Given the description of an element on the screen output the (x, y) to click on. 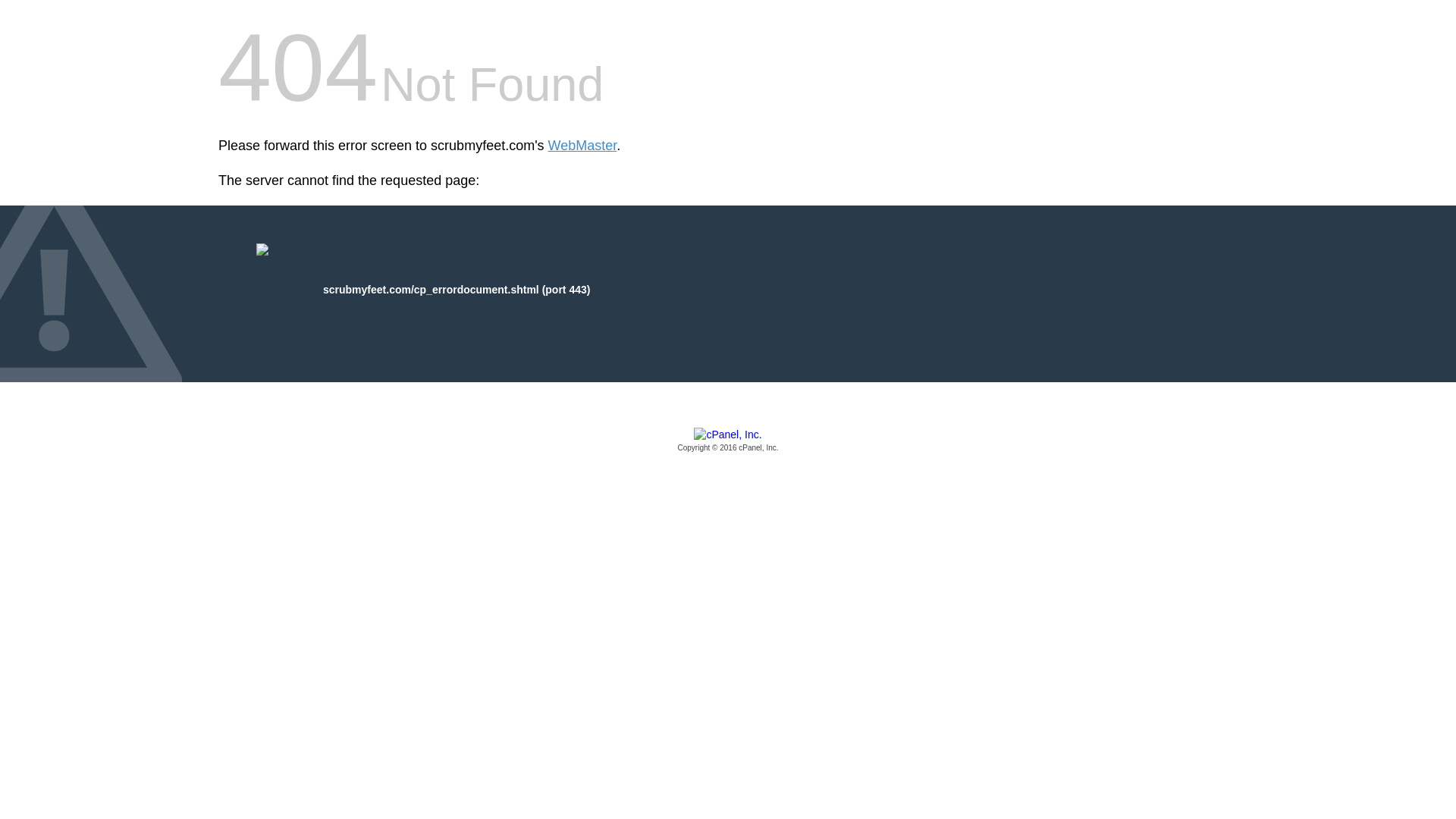
cPanel, Inc. (727, 440)
WebMaster (582, 145)
